Given the description of an element on the screen output the (x, y) to click on. 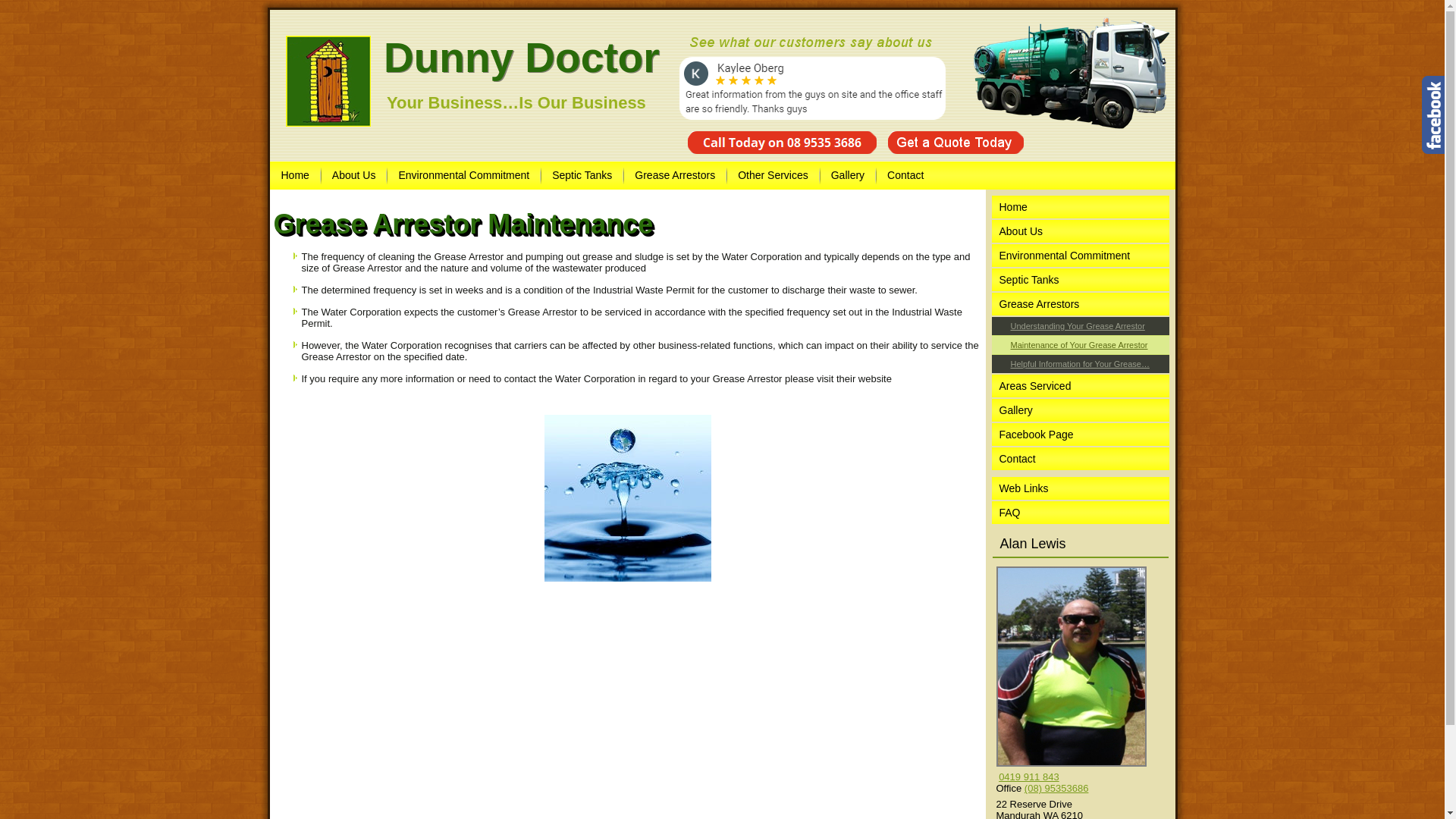
Environmental Commitment Element type: text (1080, 255)
(08) 95353686 Element type: text (1056, 787)
Grease Arrestors Element type: text (674, 175)
Septic Tanks Element type: text (1080, 279)
FAQ Element type: text (1080, 512)
Dunny Doctor Element type: text (521, 57)
Other Services Element type: text (773, 175)
Home Element type: text (1080, 206)
Gallery Element type: text (1080, 409)
Contact Element type: text (905, 175)
Areas Serviced Element type: text (1080, 385)
Maintenance of Your Grease Arrestor Element type: text (1080, 344)
0419 911 843 Element type: text (1028, 776)
Grease Arrestors Element type: text (1080, 303)
About Us Element type: text (353, 175)
Gallery Element type: text (847, 175)
Facebook Page Element type: text (1080, 434)
Home Element type: text (294, 175)
About Us Element type: text (1080, 230)
Contact Element type: text (1080, 458)
Understanding Your Grease Arrestor Element type: text (1080, 325)
Environmental Commitment Element type: text (463, 175)
Septic Tanks Element type: text (581, 175)
Web Links Element type: text (1080, 487)
